Given the description of an element on the screen output the (x, y) to click on. 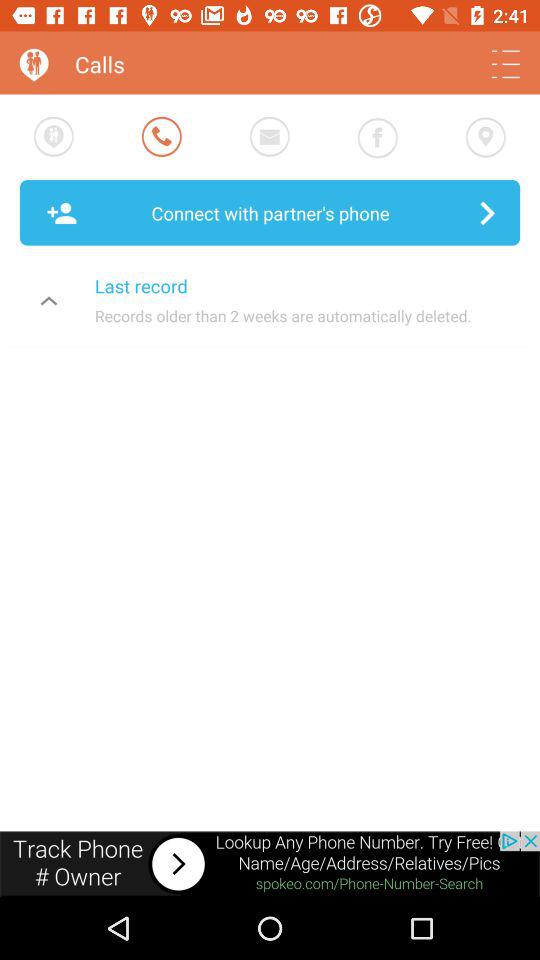
click on advertisement (270, 864)
